Given the description of an element on the screen output the (x, y) to click on. 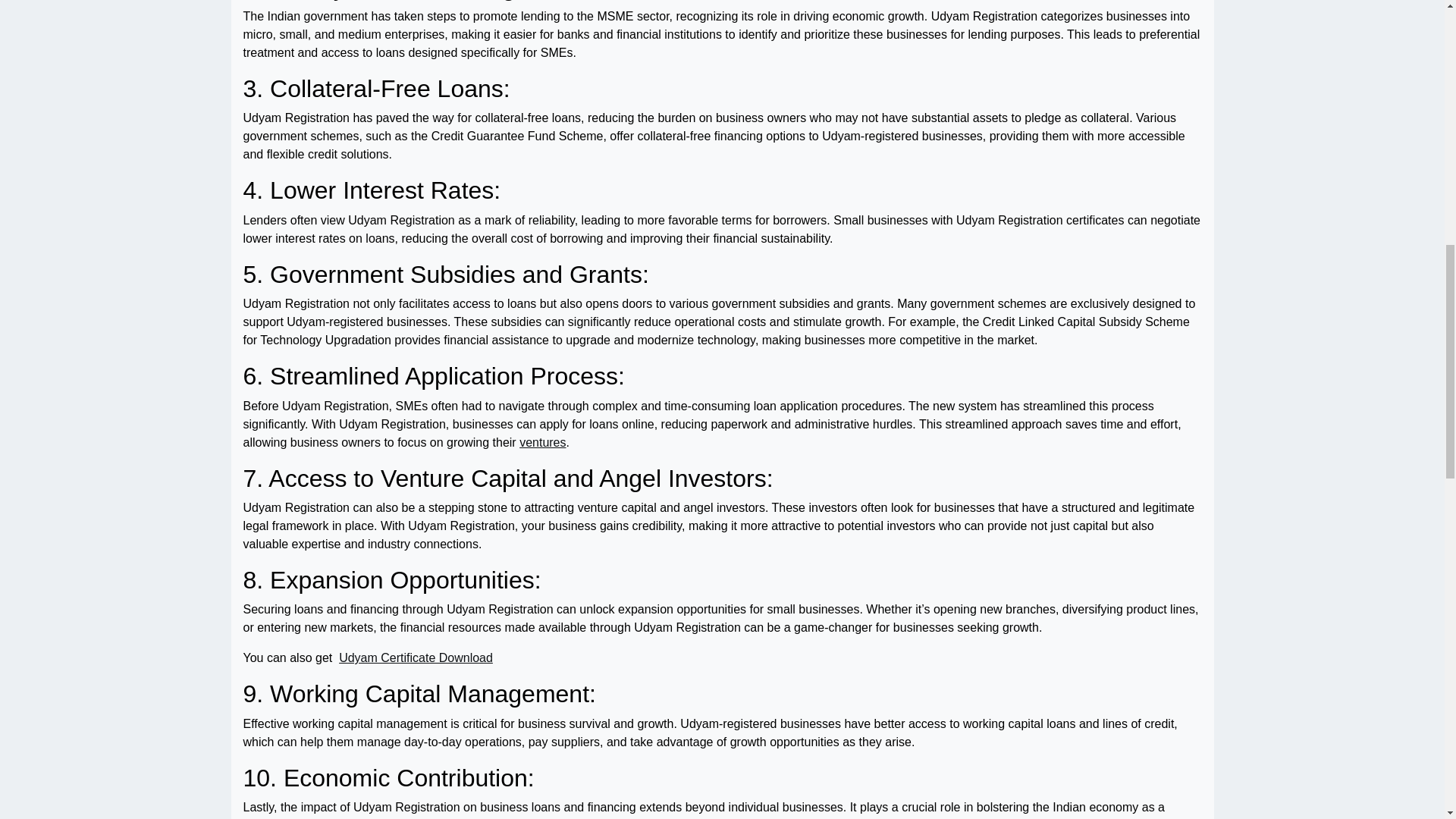
Udyam Certificate Download (416, 658)
ventures (542, 443)
